Given the description of an element on the screen output the (x, y) to click on. 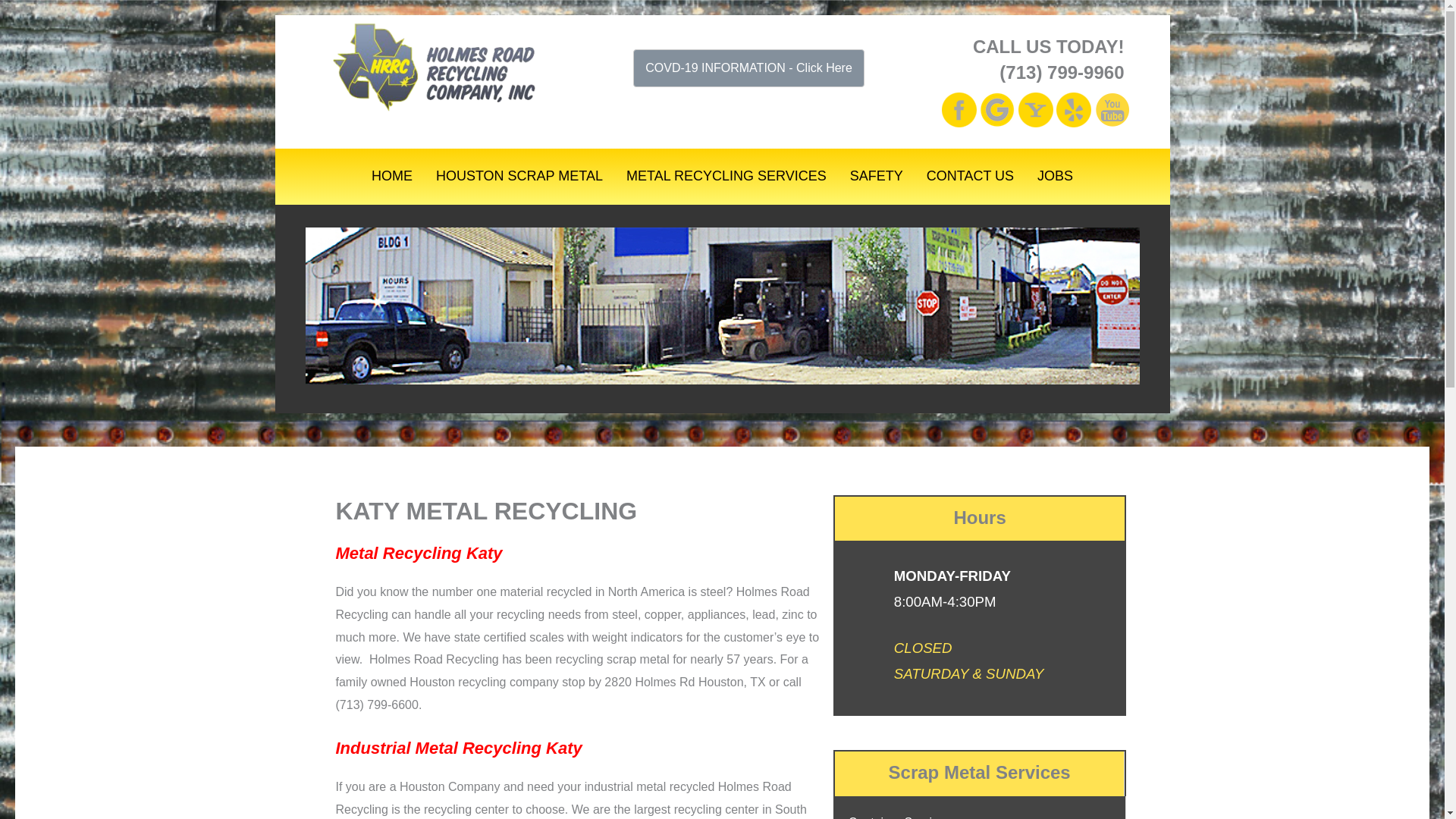
HOME (391, 176)
CONTACT US (970, 176)
METAL RECYCLING SERVICES (726, 176)
HOUSTON SCRAP METAL (519, 176)
COVD-19 INFORMATION - Click Here (748, 67)
Container Service (896, 817)
SAFETY (876, 176)
JOBS (1055, 176)
